Given the description of an element on the screen output the (x, y) to click on. 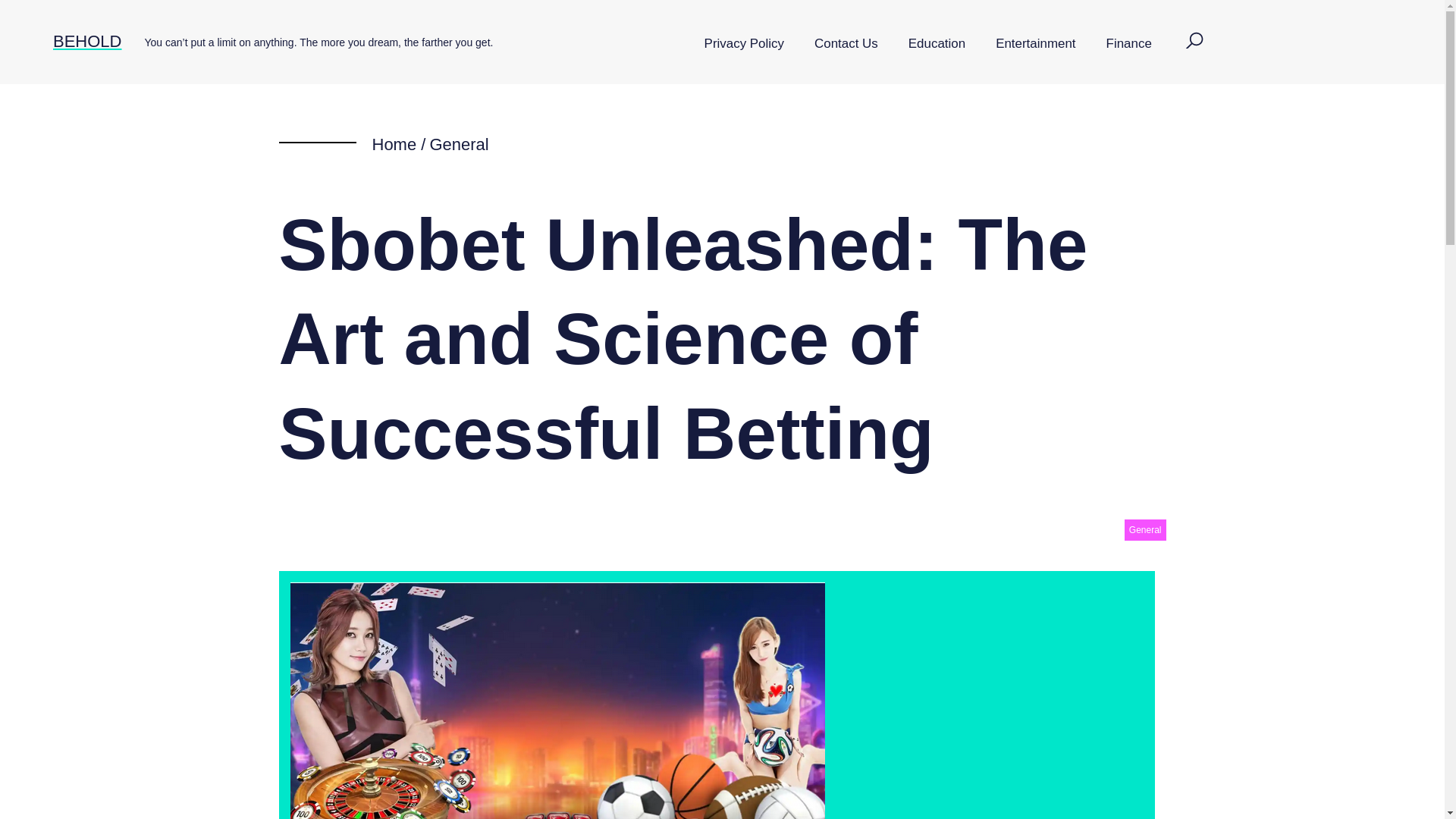
Entertainment (1034, 43)
Finance (1128, 43)
BEHOLD (86, 40)
Education (936, 43)
Contact Us (846, 43)
General (458, 144)
General (1145, 529)
Home (393, 144)
Privacy Policy (743, 43)
